Given the description of an element on the screen output the (x, y) to click on. 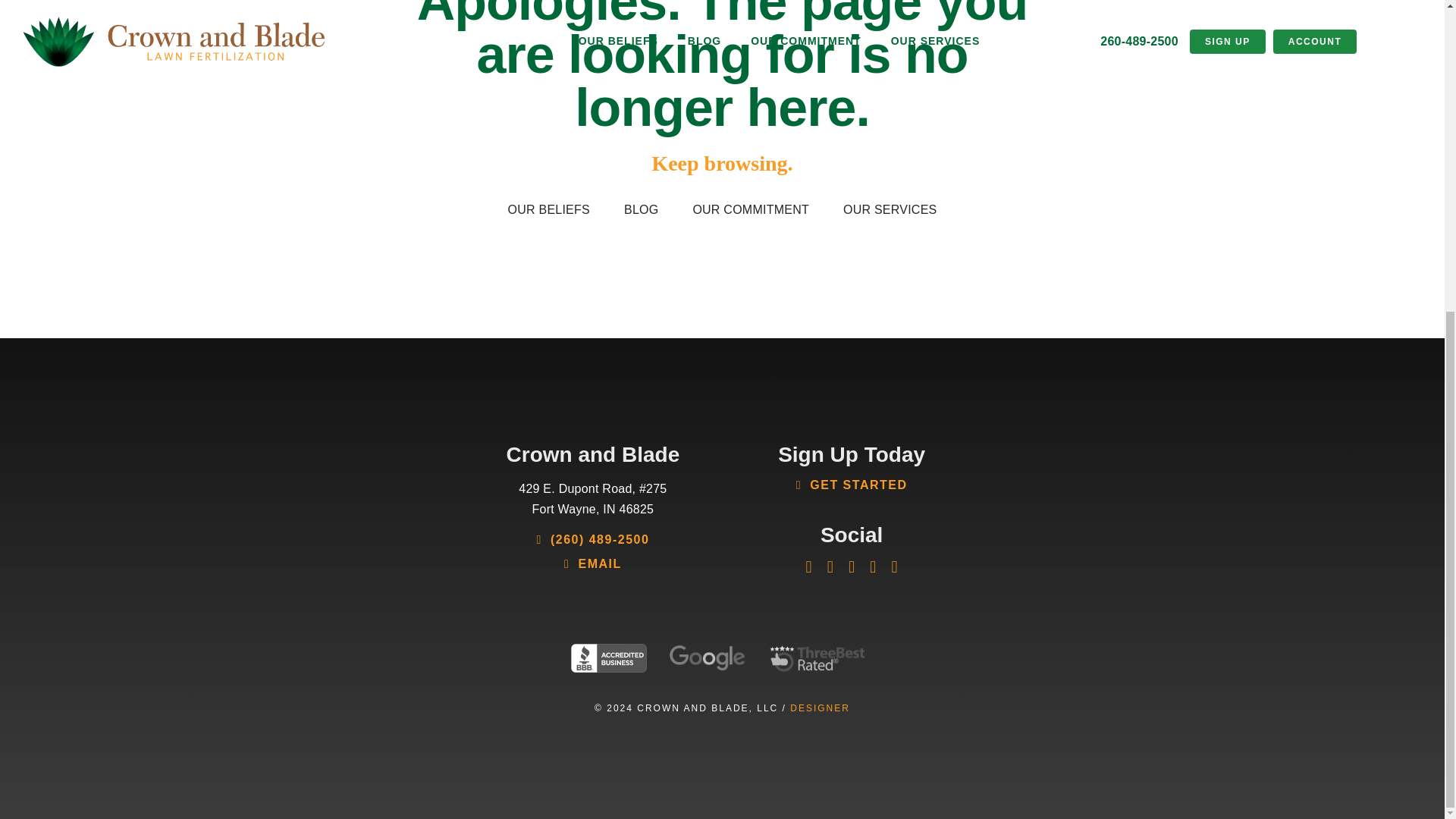
GET STARTED (851, 484)
OUR BELIEFS (548, 209)
OUR COMMITMENT (751, 209)
EMAIL (592, 564)
OUR SERVICES (890, 209)
Three-best-rated (816, 658)
DESIGNER (820, 707)
BLOG (640, 209)
